Given the description of an element on the screen output the (x, y) to click on. 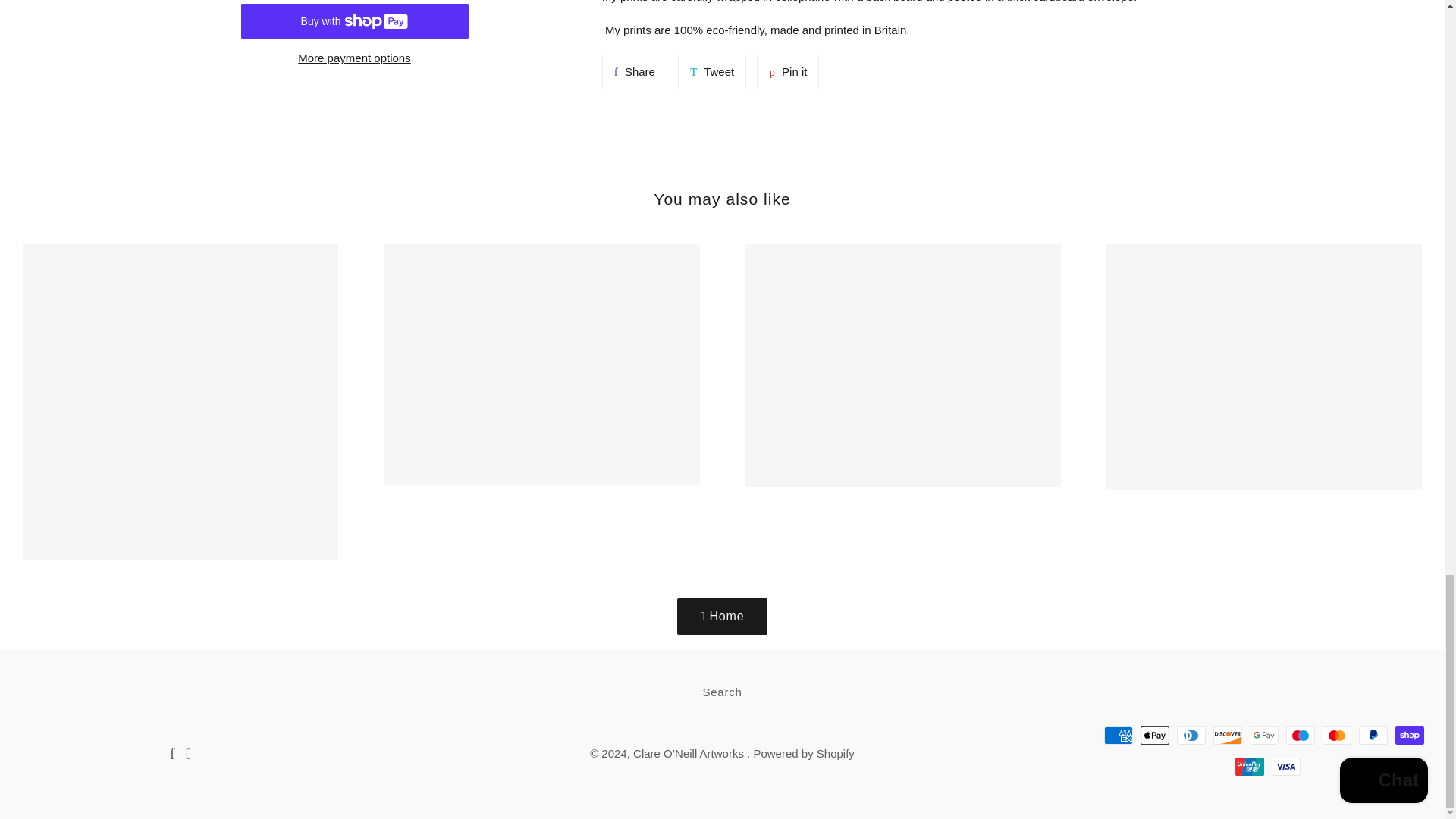
Diners Club (1190, 735)
Search (722, 691)
Shop Pay (1408, 735)
Mastercard (1336, 735)
More payment options (354, 57)
American Express (1117, 735)
Home (722, 616)
Maestro (1299, 735)
Apple Pay (1154, 735)
Union Pay (1248, 766)
Share on Facebook (634, 71)
Visa (1285, 766)
Google Pay (634, 71)
Powered by Shopify (1263, 735)
